Given the description of an element on the screen output the (x, y) to click on. 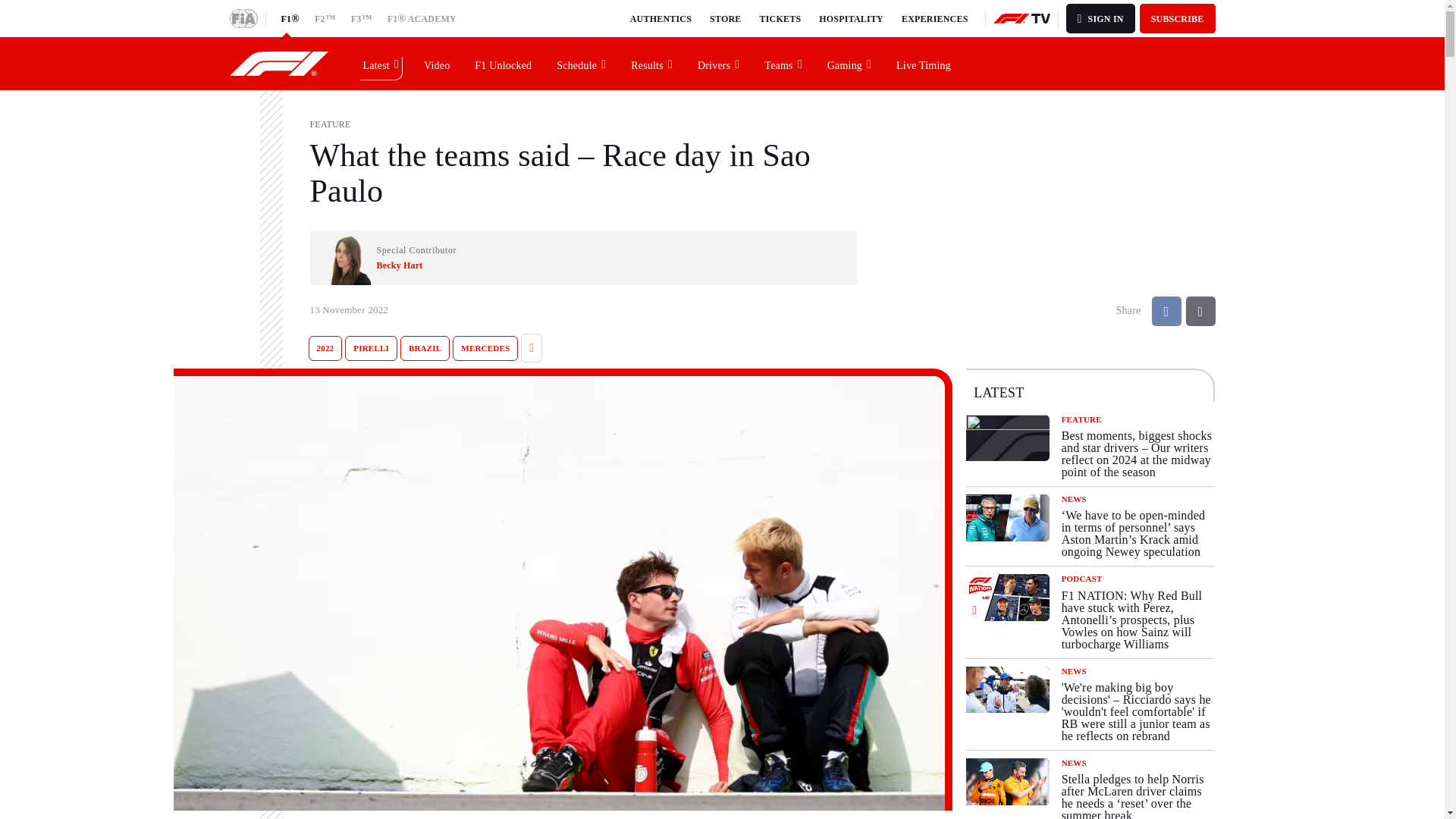
STORE (725, 18)
BRAZIL (424, 348)
Teams (782, 63)
HOSPITALITY (850, 18)
EXPERIENCES (934, 18)
Live Timing (923, 63)
MERCEDES (485, 348)
Schedule (581, 63)
AUTHENTICS (660, 18)
Gaming (849, 63)
Video (437, 63)
2022 (324, 348)
PIRELLI (371, 348)
Drivers (718, 63)
Results (651, 63)
